Given the description of an element on the screen output the (x, y) to click on. 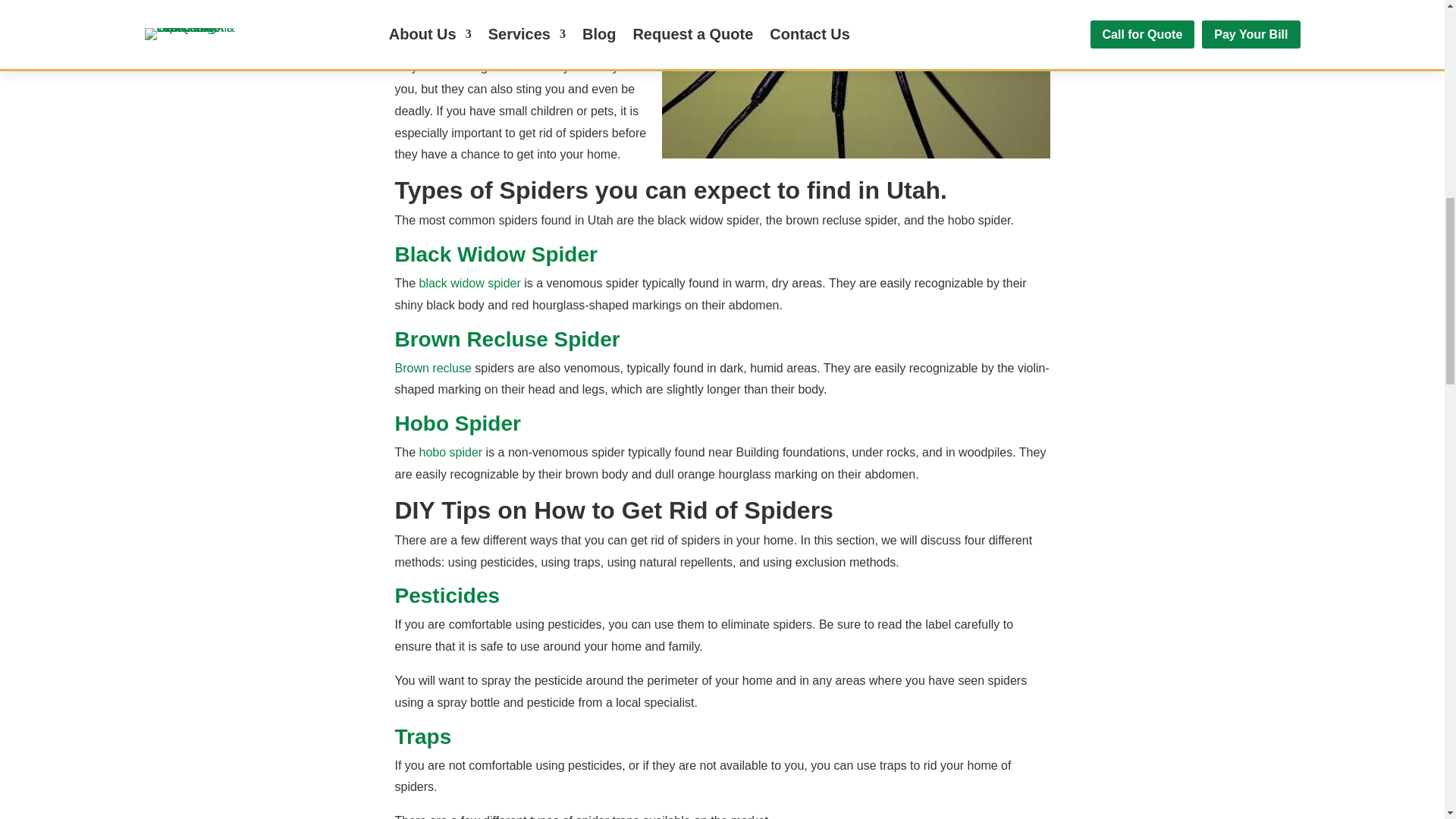
Brown recluse (432, 367)
black widow spider (470, 282)
hobo spider (451, 451)
